Given the description of an element on the screen output the (x, y) to click on. 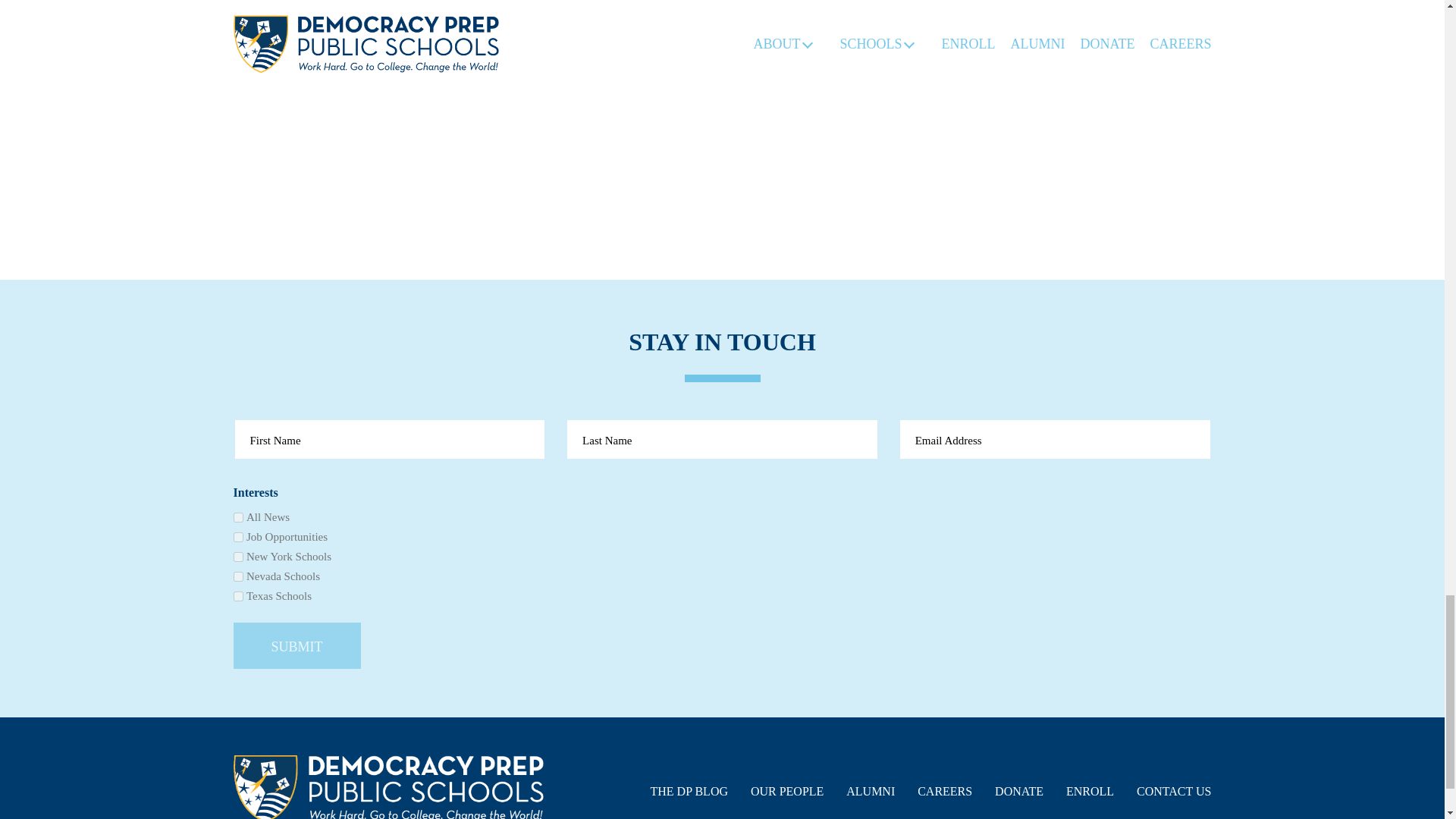
Nevada Schools (237, 576)
DONATE (1018, 791)
Submit (296, 645)
New York Schools (237, 556)
THE DP BLOG (688, 791)
CONTACT US (1174, 791)
Job Opportunities (237, 537)
Texas Schools (237, 596)
CAREERS (944, 791)
ENROLL (1089, 791)
